Given the description of an element on the screen output the (x, y) to click on. 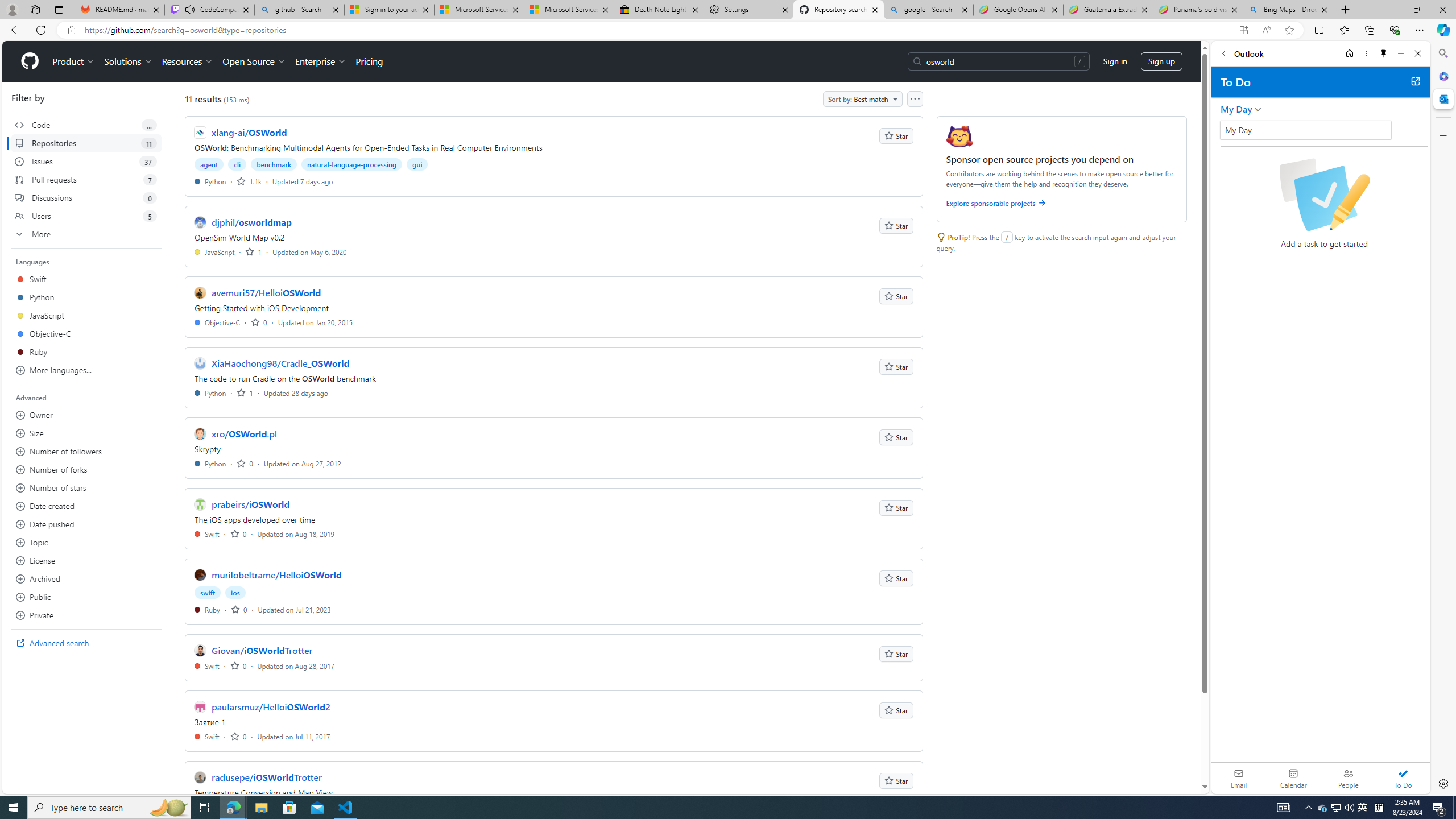
Draggable pane splitter (169, 437)
My Day (1236, 109)
cli (237, 164)
Sign in (1115, 61)
github - Search (298, 9)
Package icon (959, 136)
Open Source (254, 60)
